Given the description of an element on the screen output the (x, y) to click on. 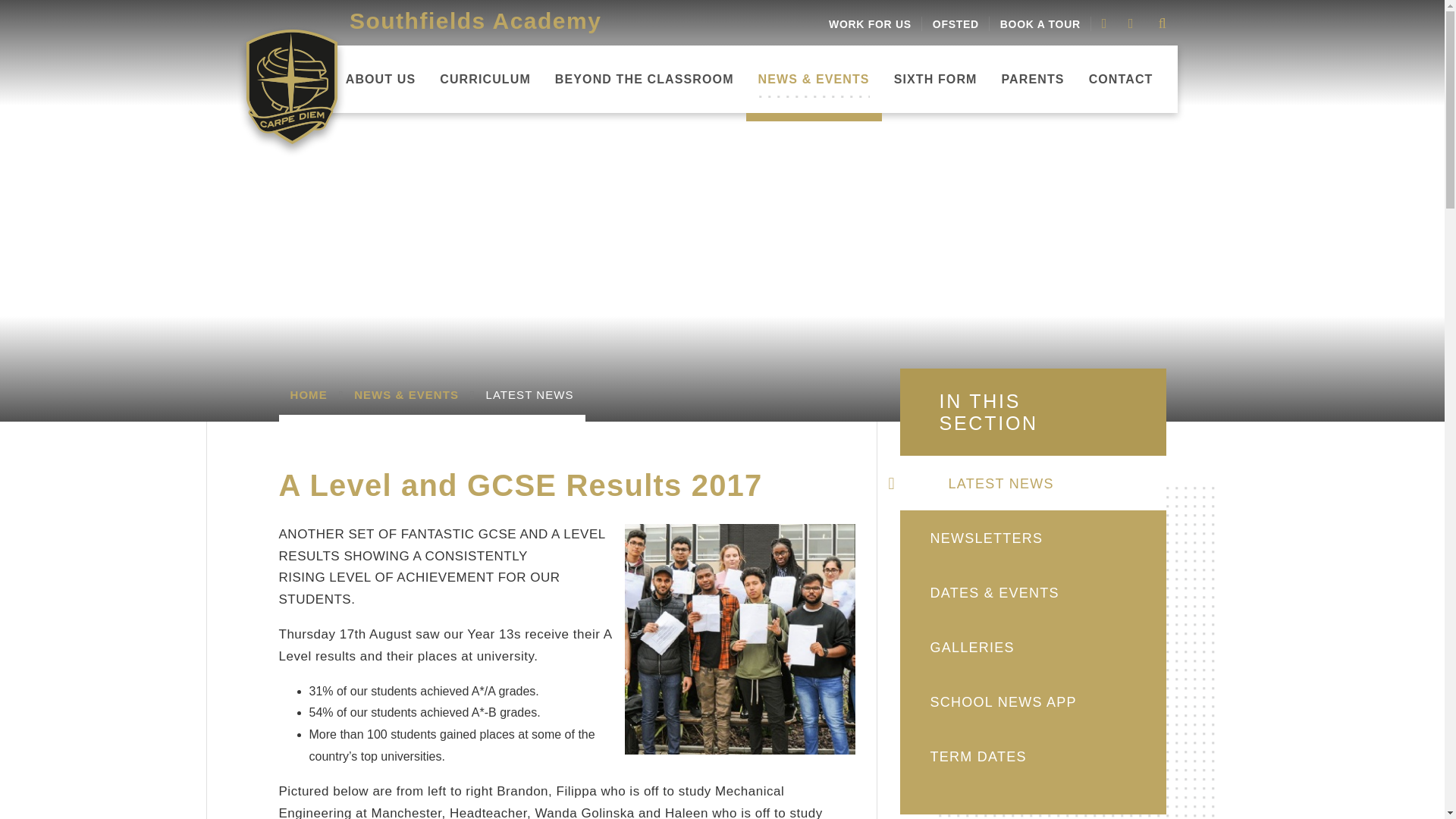
HOME (301, 79)
CURRICULUM (485, 79)
ABOUT US (380, 79)
